Given the description of an element on the screen output the (x, y) to click on. 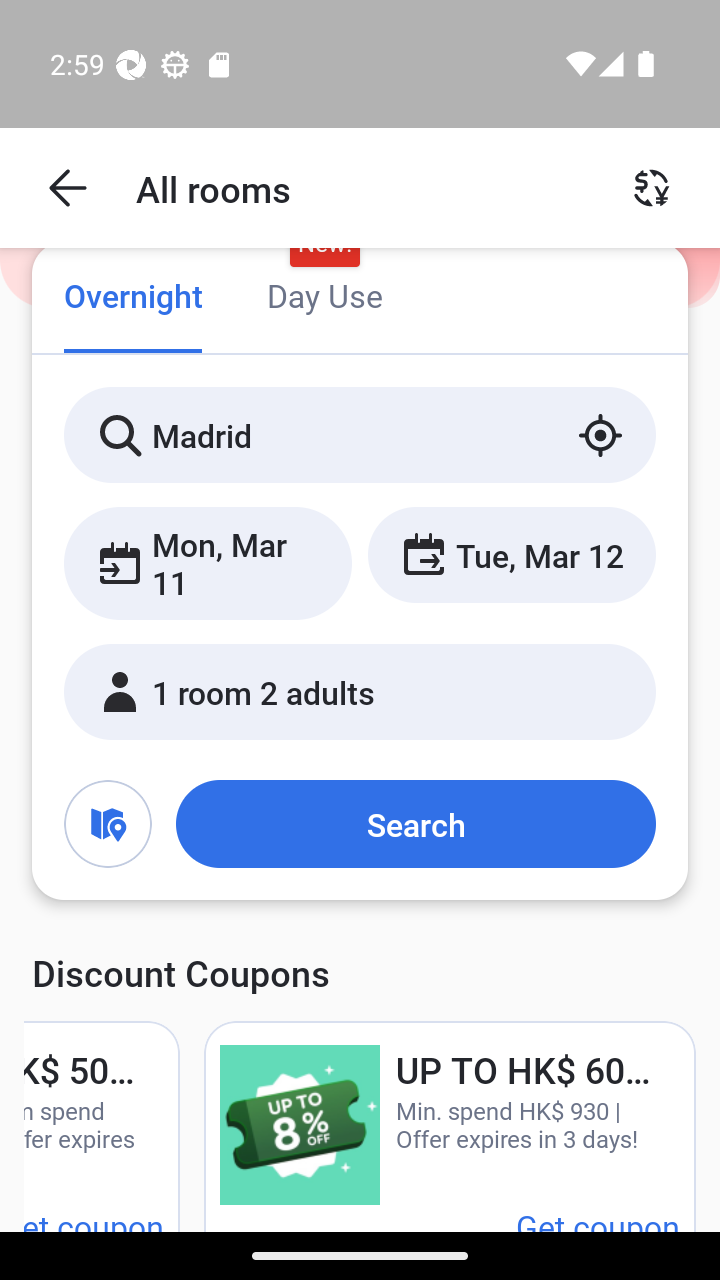
Day Use (324, 298)
Madrid (359, 434)
Mon, Mar 11 (208, 562)
Tue, Mar 12 (511, 554)
1 room 2 adults (359, 691)
Search (415, 823)
